Given the description of an element on the screen output the (x, y) to click on. 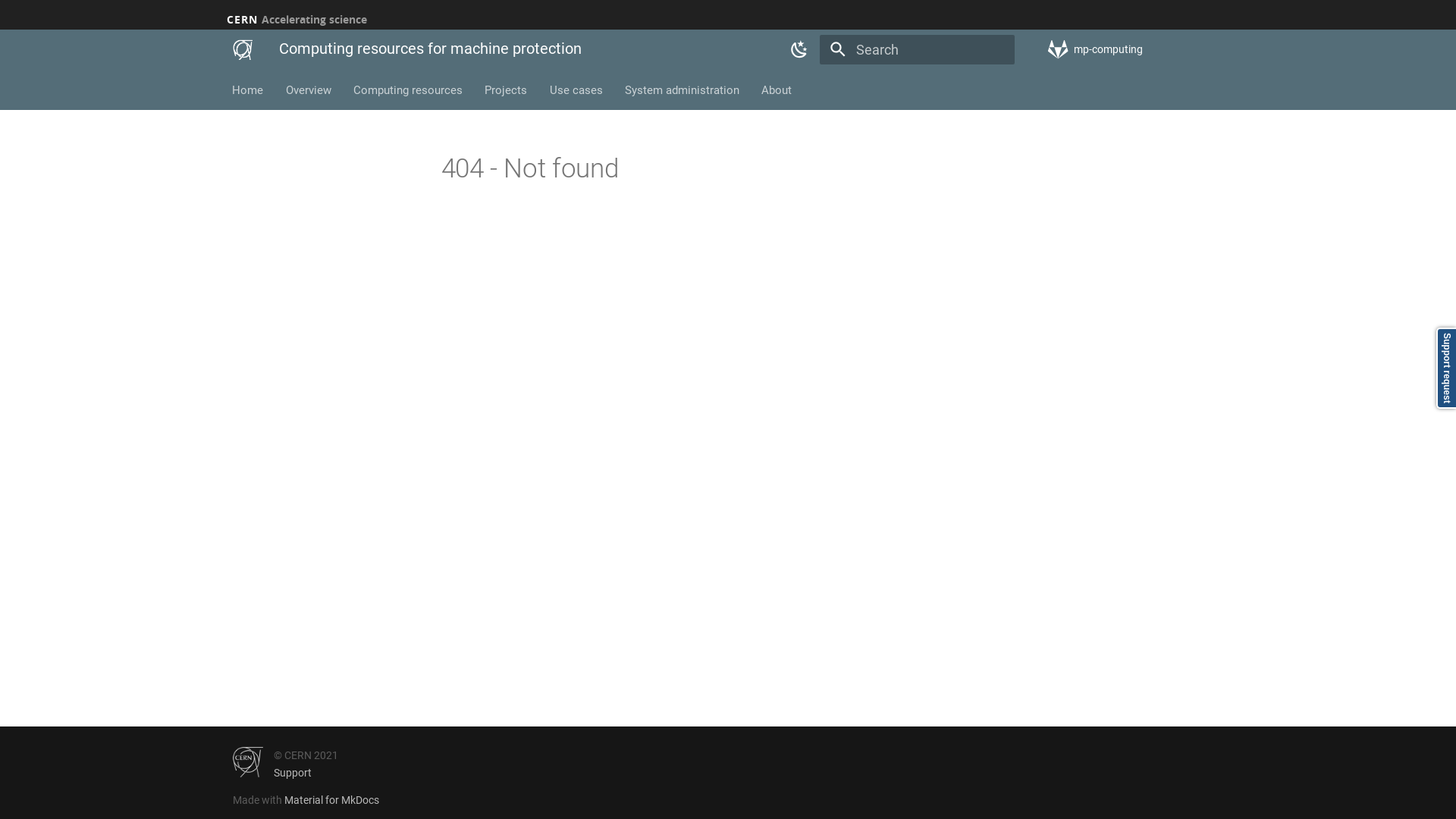
Support Element type: text (292, 772)
mp-computing Element type: text (1135, 49)
Material for MkDocs Element type: text (331, 799)
Computing resources for machine protection Element type: hover (242, 49)
Computing resources Element type: text (407, 90)
Home Element type: text (247, 90)
System administration Element type: text (681, 90)
Use cases Element type: text (575, 90)
Switch to dark mode Element type: hover (799, 49)
CERN Accelerating science Element type: text (296, 19)
About Element type: text (777, 90)
Overview Element type: text (308, 90)
Projects Element type: text (506, 90)
